Given the description of an element on the screen output the (x, y) to click on. 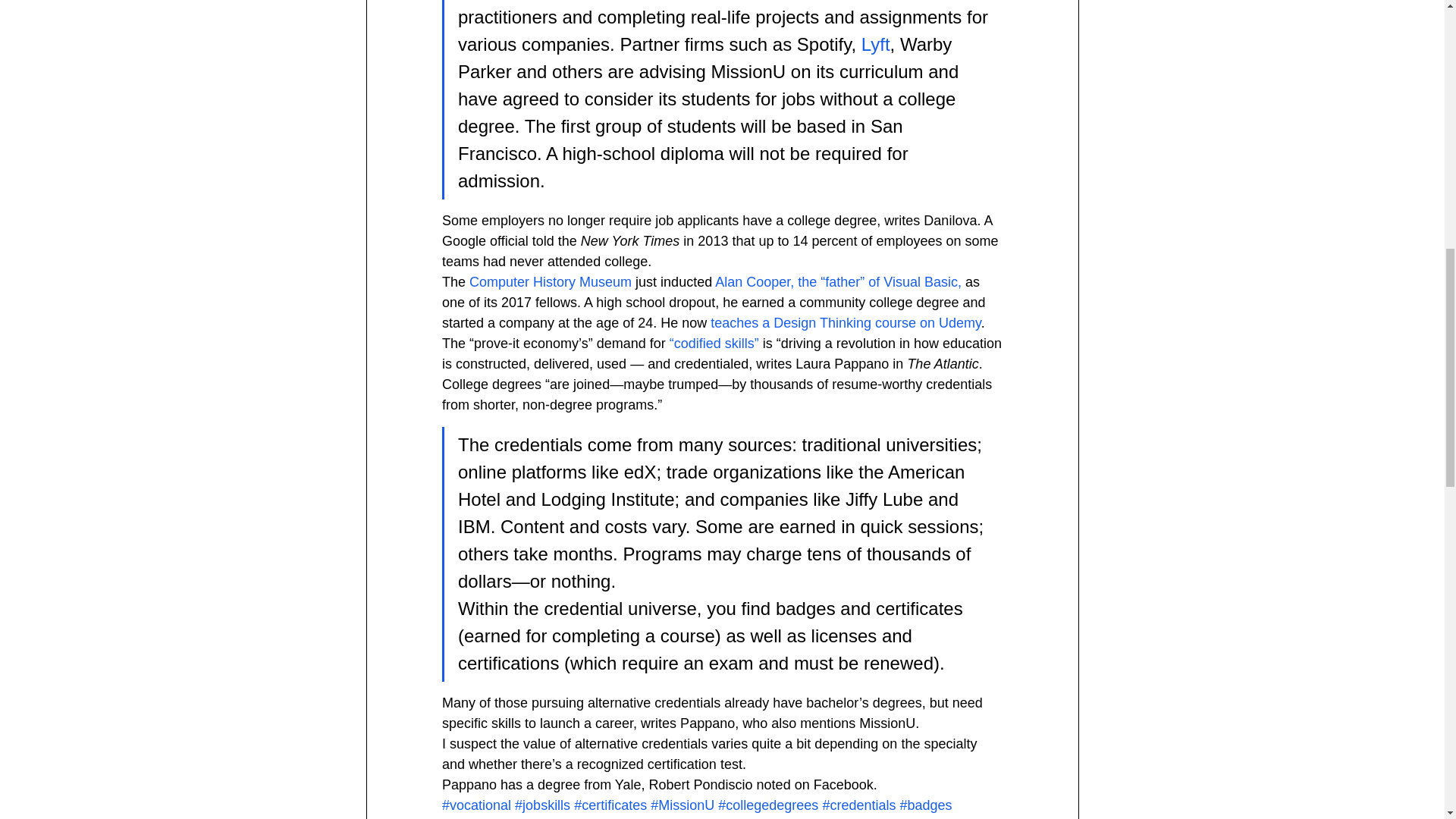
Computer History Museum (549, 281)
teaches a Design Thinking course on Udemy (845, 322)
Lyft (874, 44)
